Given the description of an element on the screen output the (x, y) to click on. 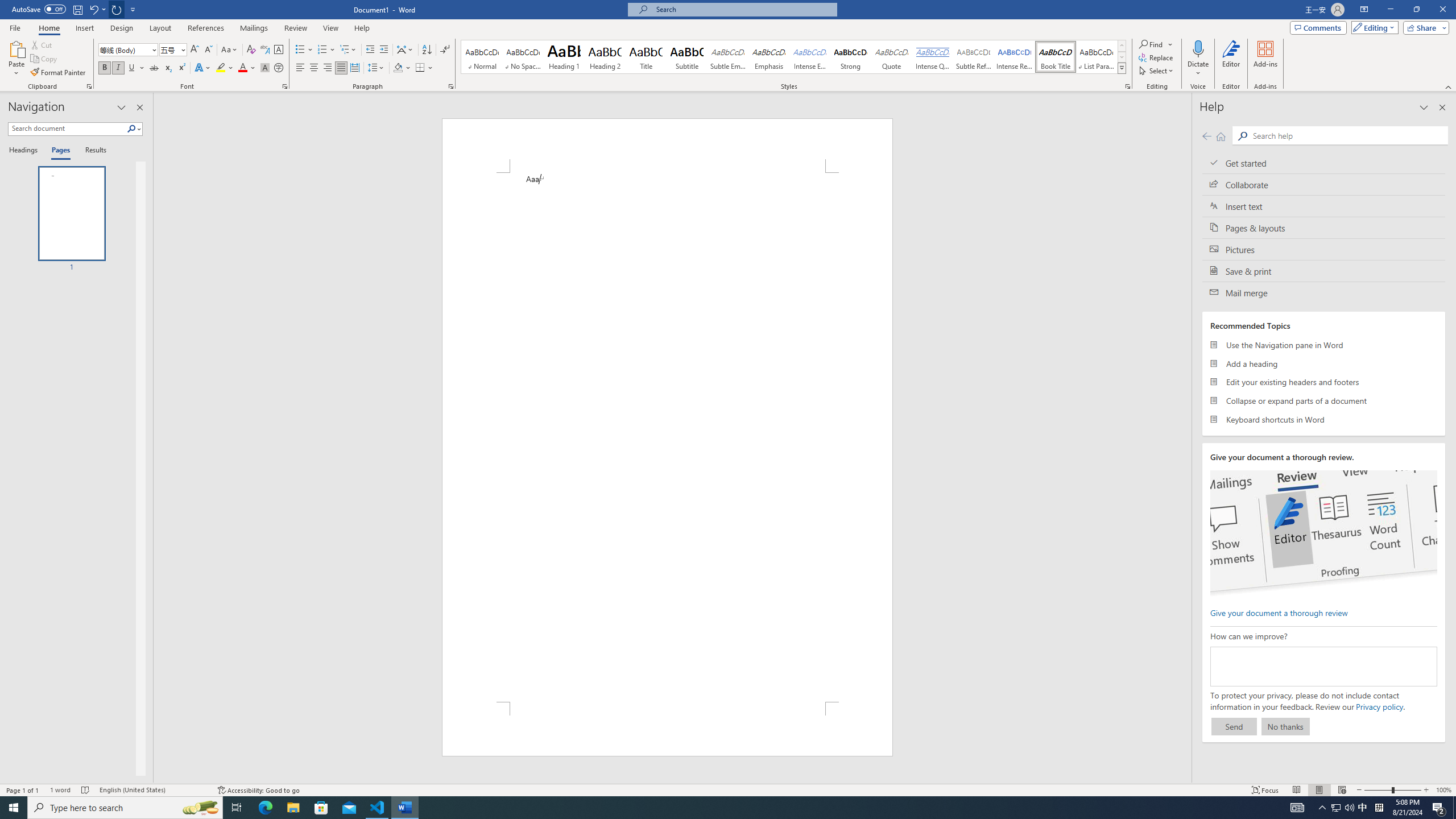
File Tab (15, 27)
System (6, 6)
Clear Formatting (250, 49)
Microsoft search (742, 9)
Search (131, 128)
Pictures (1323, 249)
Center (313, 67)
Subtle Reference (973, 56)
Page Number Page 1 of 1 (22, 790)
Text Highlight Color (224, 67)
Replace... (1156, 56)
Paste (16, 58)
Pages & layouts (1323, 228)
Enclose Characters... (278, 67)
Borders (424, 67)
